Given the description of an element on the screen output the (x, y) to click on. 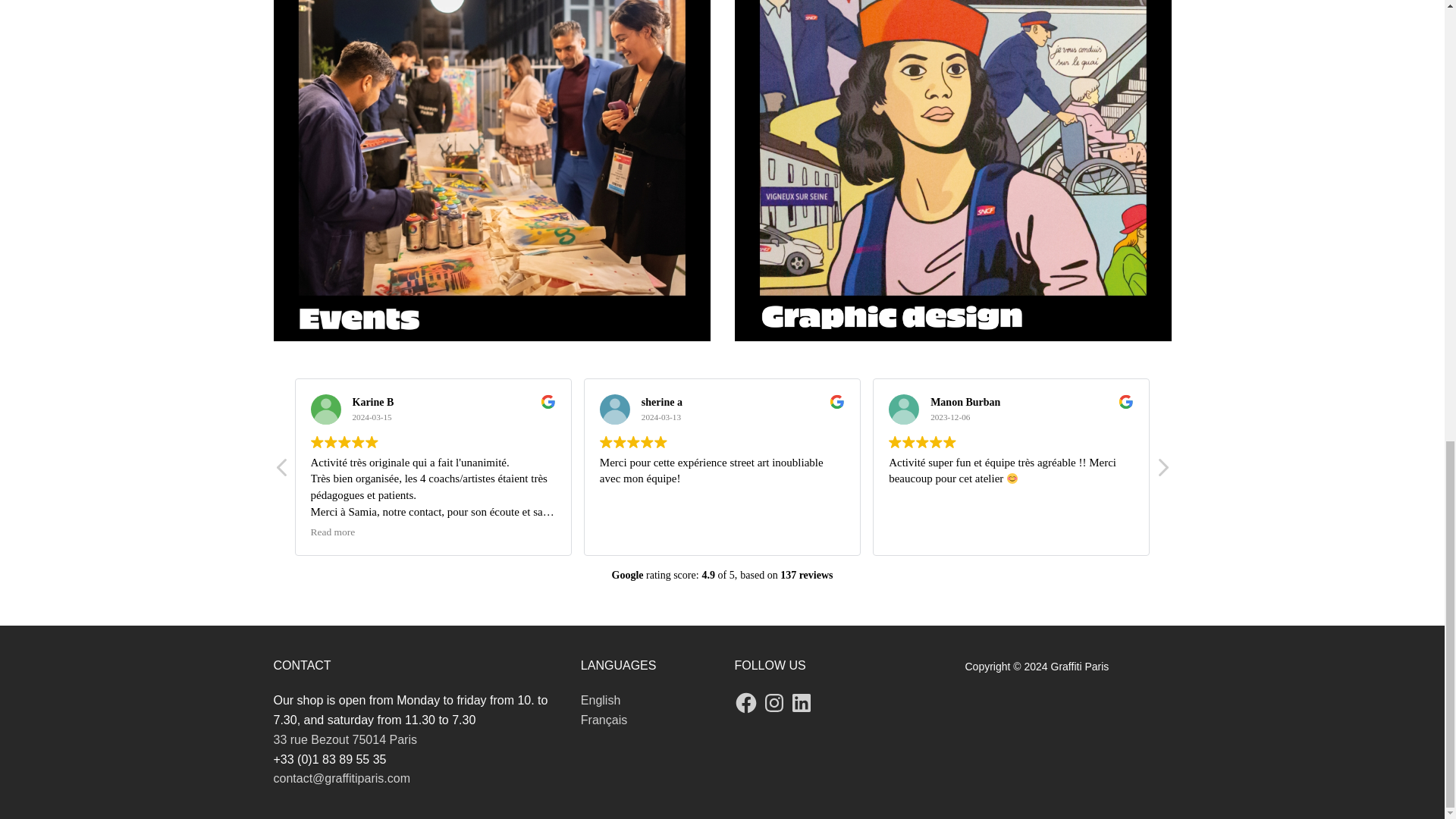
Facebook (745, 702)
Instagram (773, 702)
LinkedIn (801, 702)
33 rue Bezout 75014 Paris (344, 739)
English (600, 699)
